Given the description of an element on the screen output the (x, y) to click on. 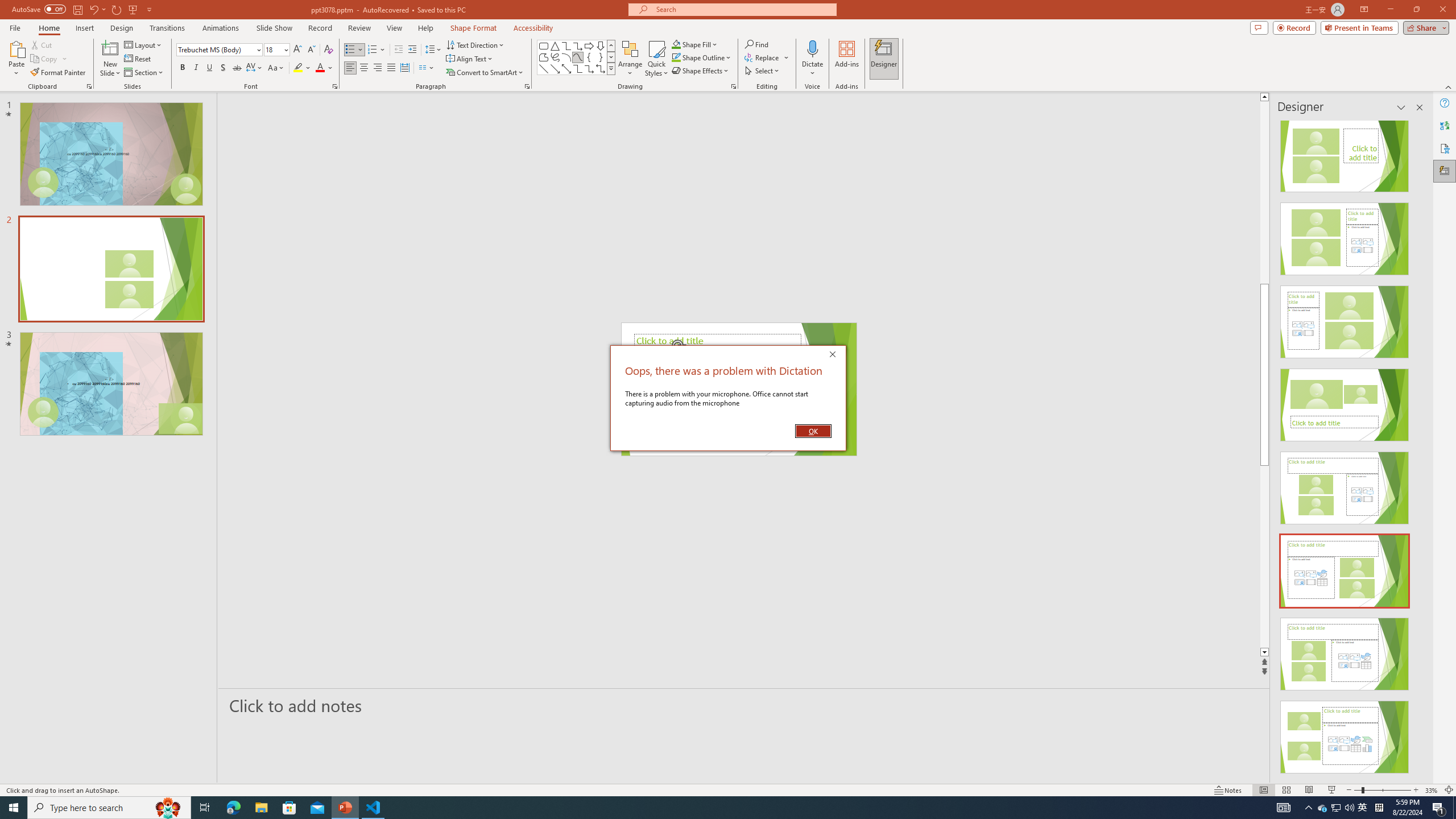
Line Arrow: Double (566, 68)
